Given the description of an element on the screen output the (x, y) to click on. 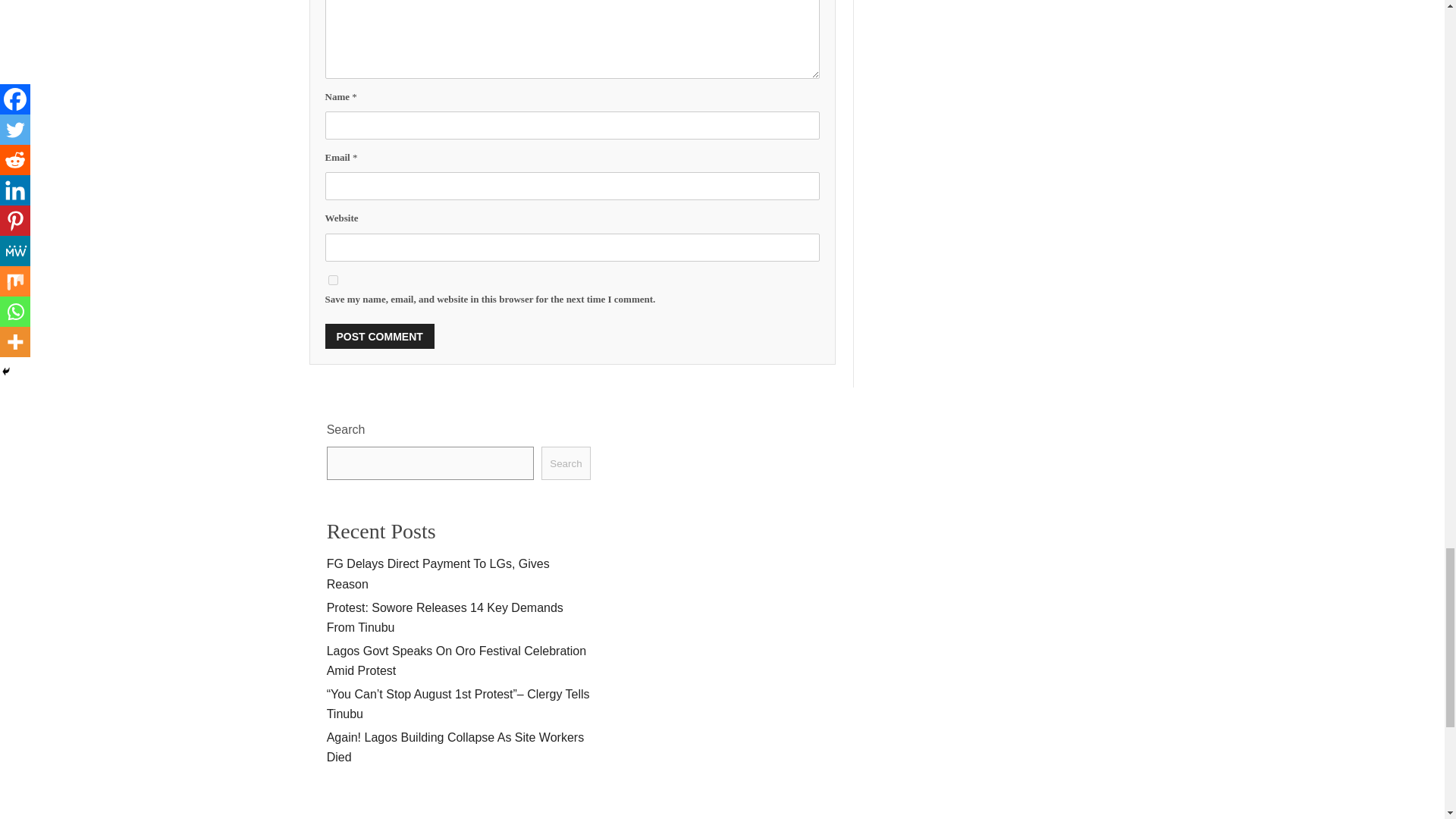
yes (332, 280)
Post Comment (378, 335)
